Given the description of an element on the screen output the (x, y) to click on. 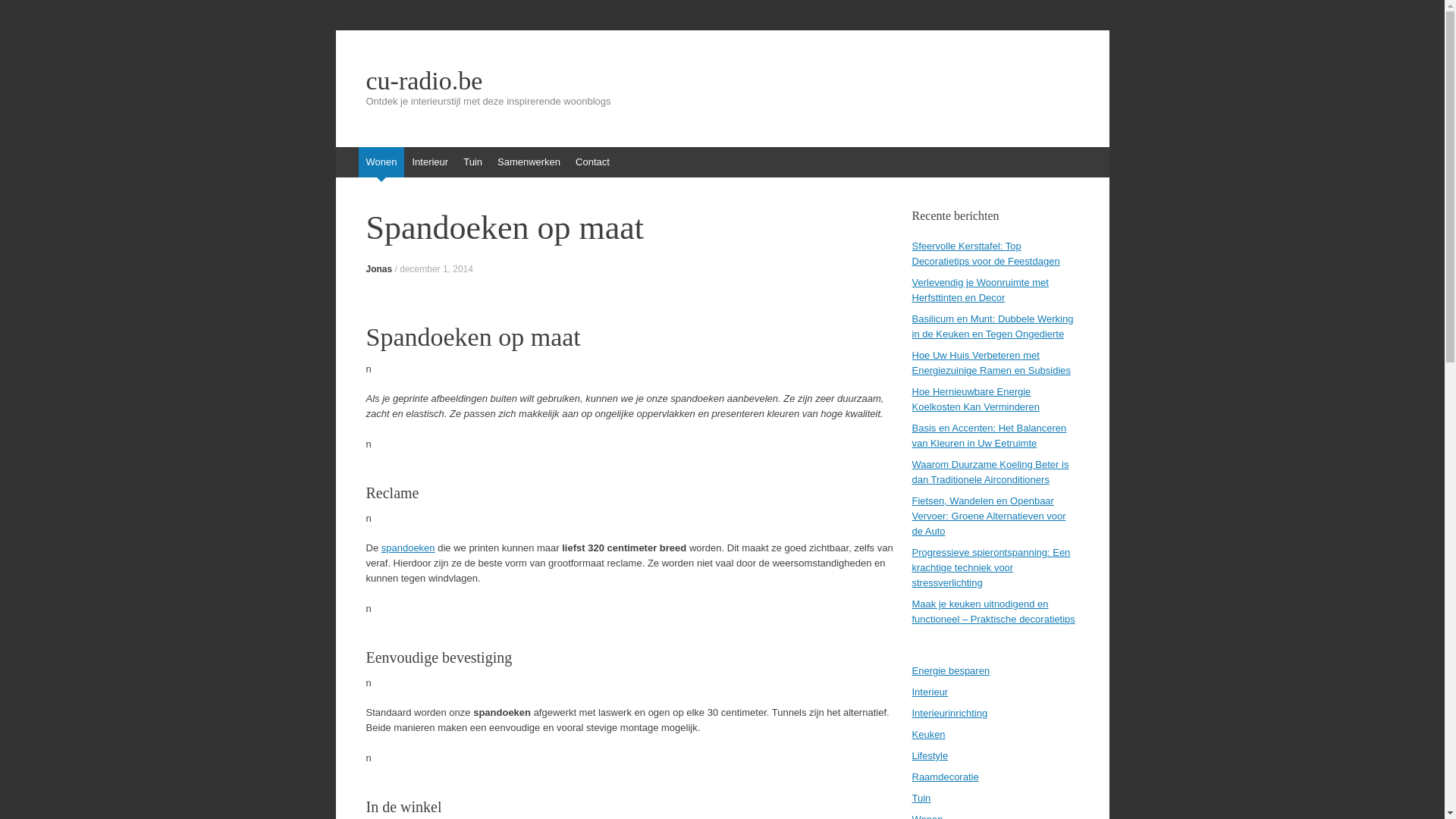
Samenwerken Element type: text (528, 162)
cu-radio.be Element type: text (721, 81)
Jonas Element type: text (378, 268)
Keuken Element type: text (927, 734)
Interieurinrichting Element type: text (949, 712)
spandoeken Element type: text (408, 547)
Sfeervolle Kersttafel: Top Decoratietips voor de Feestdagen Element type: text (985, 253)
Lifestyle Element type: text (929, 755)
Verlevendig je Woonruimte met Herfsttinten en Decor Element type: text (979, 289)
Interieur Element type: text (929, 691)
Hoe Hernieuwbare Energie Koelkosten Kan Verminderen Element type: text (974, 398)
Skip to content Element type: text (343, 154)
Interieur Element type: text (429, 162)
Tuin Element type: text (920, 797)
Hoe Uw Huis Verbeteren met Energiezuinige Ramen en Subsidies Element type: text (990, 362)
Contact Element type: text (592, 162)
december 1, 2014 Element type: text (436, 268)
Tuin Element type: text (472, 162)
Wonen Element type: text (380, 162)
Raamdecoratie Element type: text (944, 776)
Energie besparen Element type: text (950, 670)
